Given the description of an element on the screen output the (x, y) to click on. 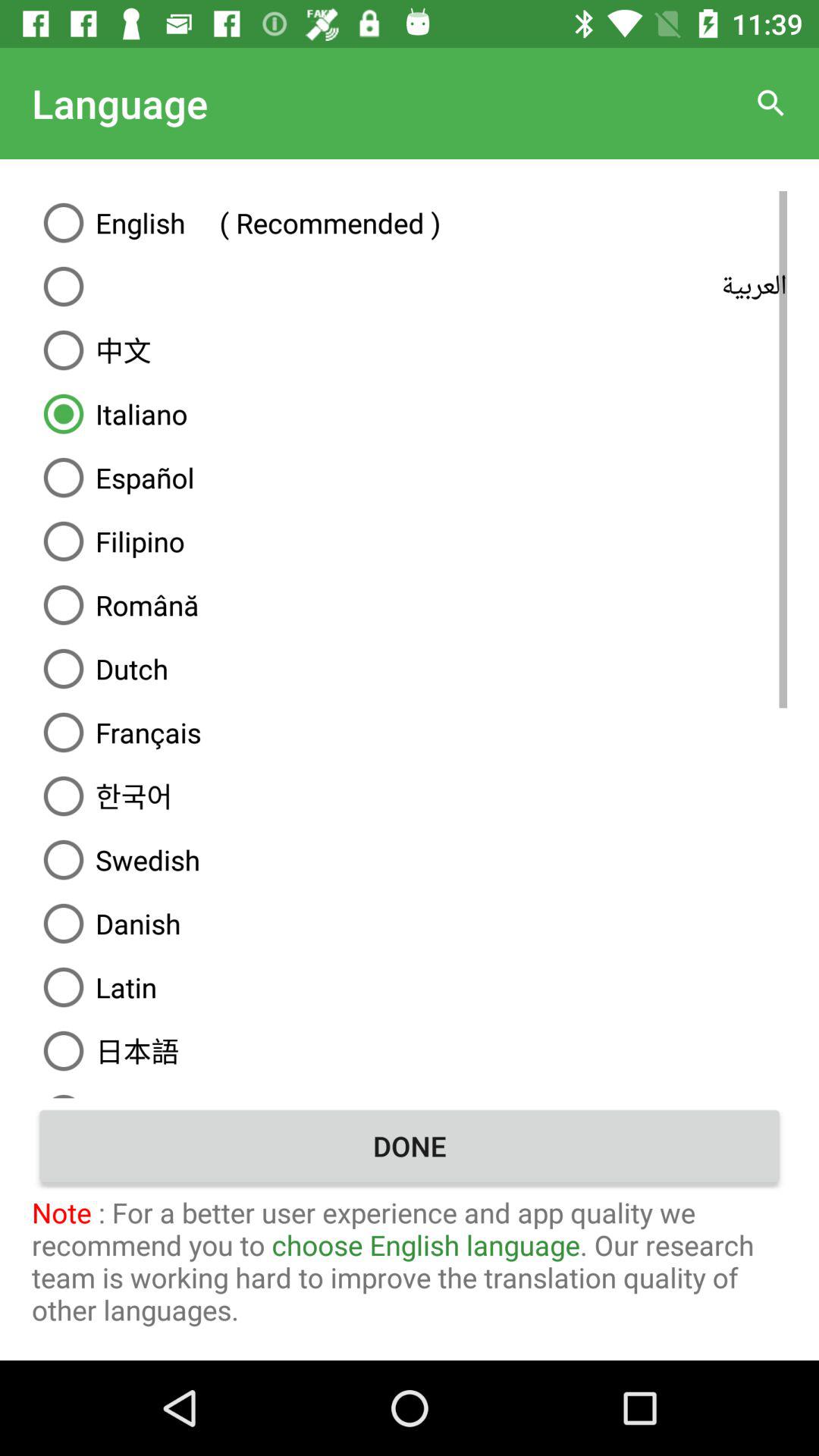
turn off dutch item (409, 668)
